Given the description of an element on the screen output the (x, y) to click on. 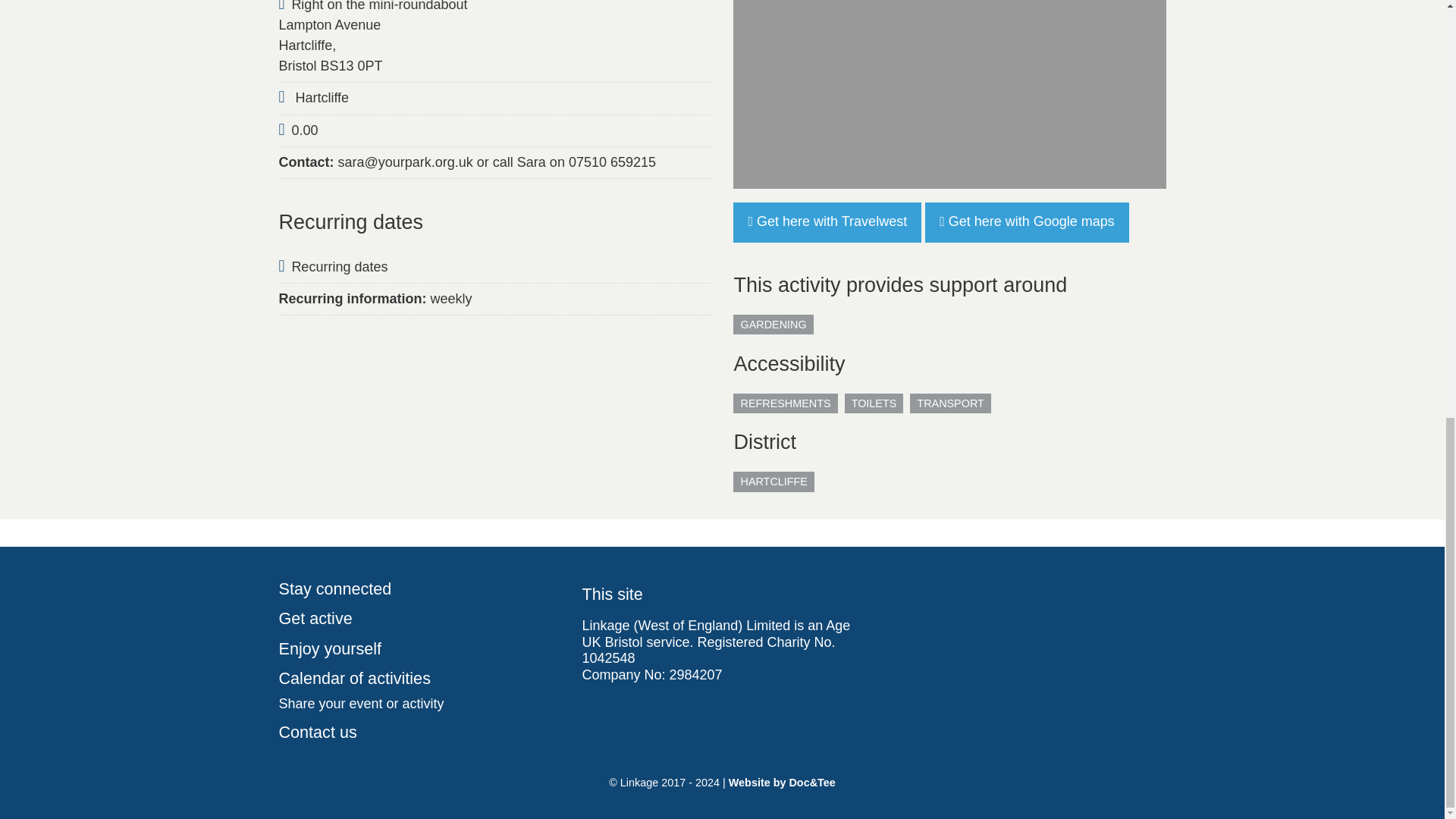
Get active (418, 618)
Get here with Travelwest (827, 221)
Enjoy yourself (418, 648)
Calendar of activities (418, 678)
Contact us (418, 732)
Stay connected (418, 589)
Share your event or activity (418, 703)
Get here with Google maps (1026, 221)
